Given the description of an element on the screen output the (x, y) to click on. 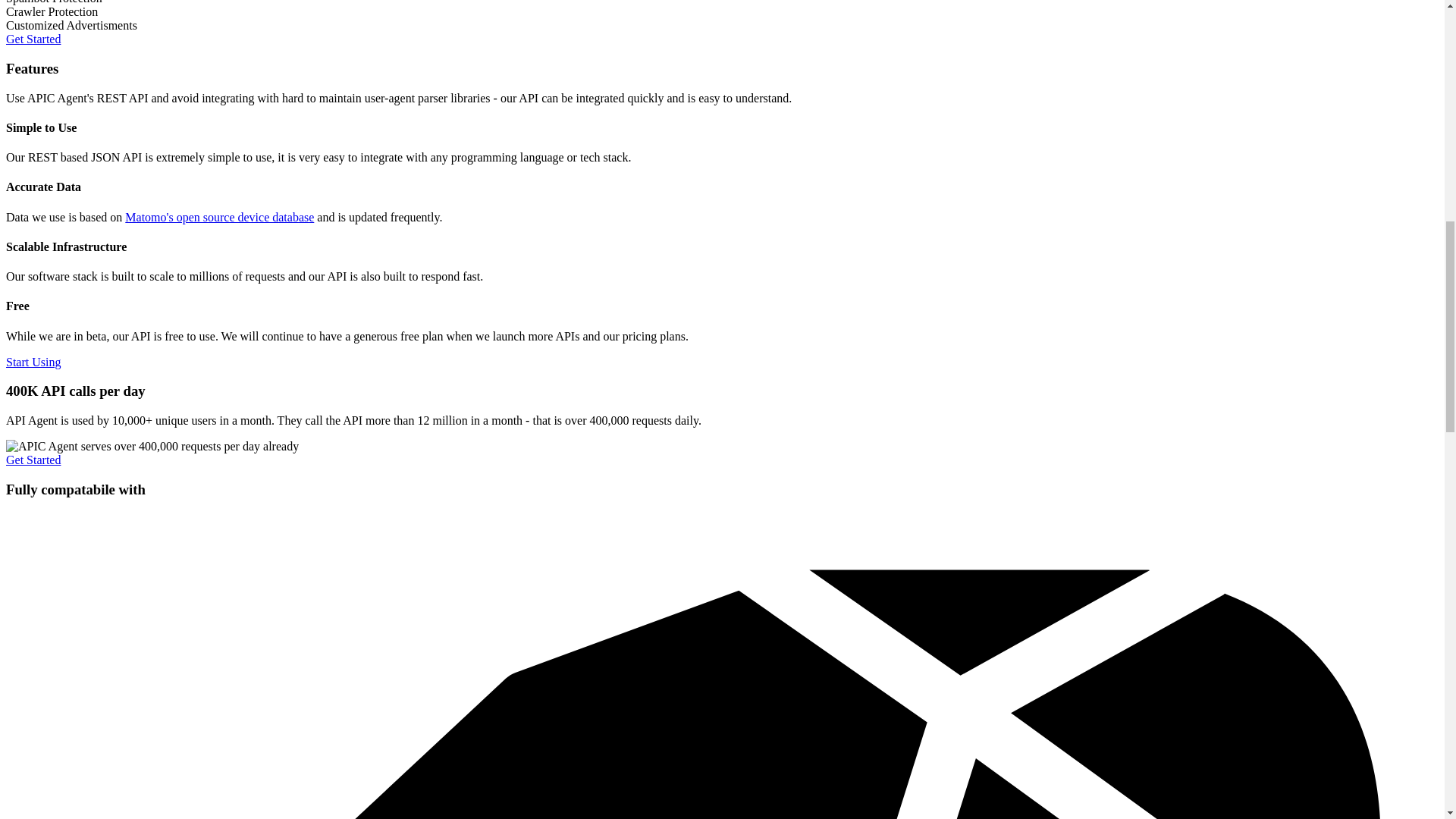
Start Using (33, 361)
Get Started (33, 38)
Matomo's open source device database (219, 216)
Get Started (33, 459)
